Given the description of an element on the screen output the (x, y) to click on. 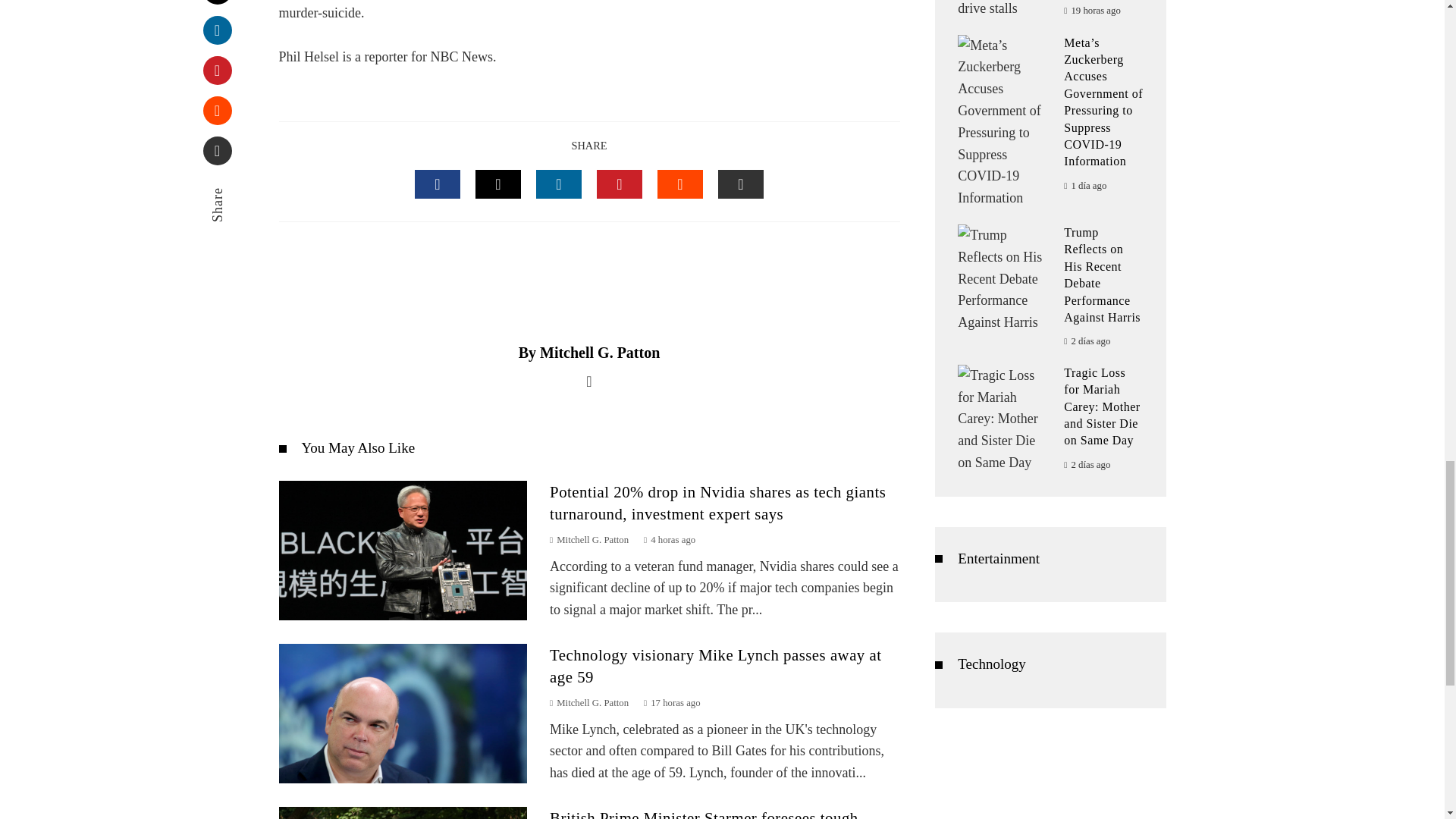
EMAIL (739, 184)
LINKEDIN (557, 184)
Technology visionary Mike Lynch passes away at age 59 (715, 665)
PINTEREST (619, 184)
TWITTER (498, 184)
FACEBOOK (437, 184)
Technology visionary Mike Lynch passes away at age 59 (715, 665)
